Given the description of an element on the screen output the (x, y) to click on. 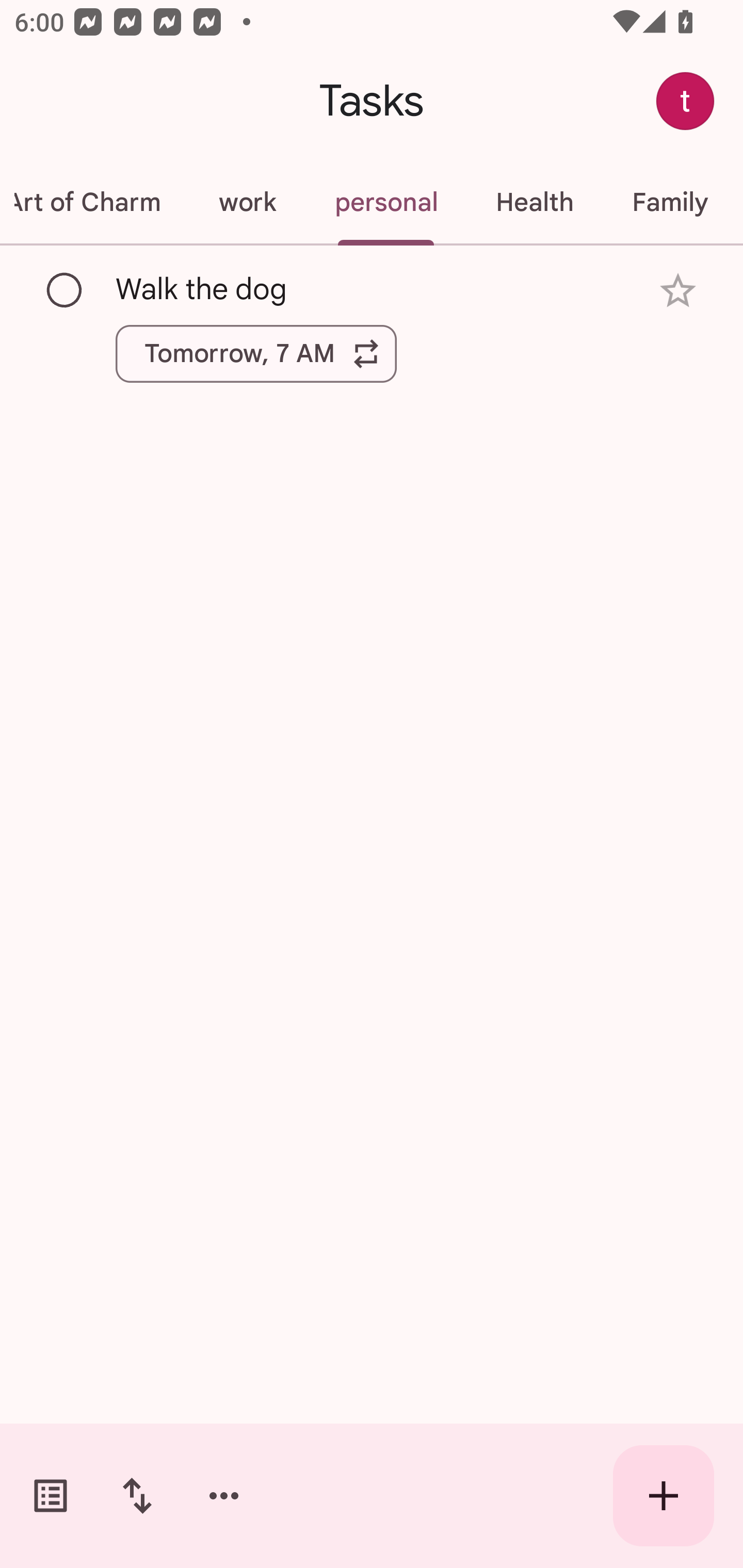
The Art of Charm (94, 202)
work (247, 202)
Health (534, 202)
Family (669, 202)
Add star (677, 290)
Mark as complete (64, 290)
Tomorrow, 7 AM (255, 353)
Switch task lists (50, 1495)
Create new task (663, 1495)
Change sort order (136, 1495)
More options (223, 1495)
